Given the description of an element on the screen output the (x, y) to click on. 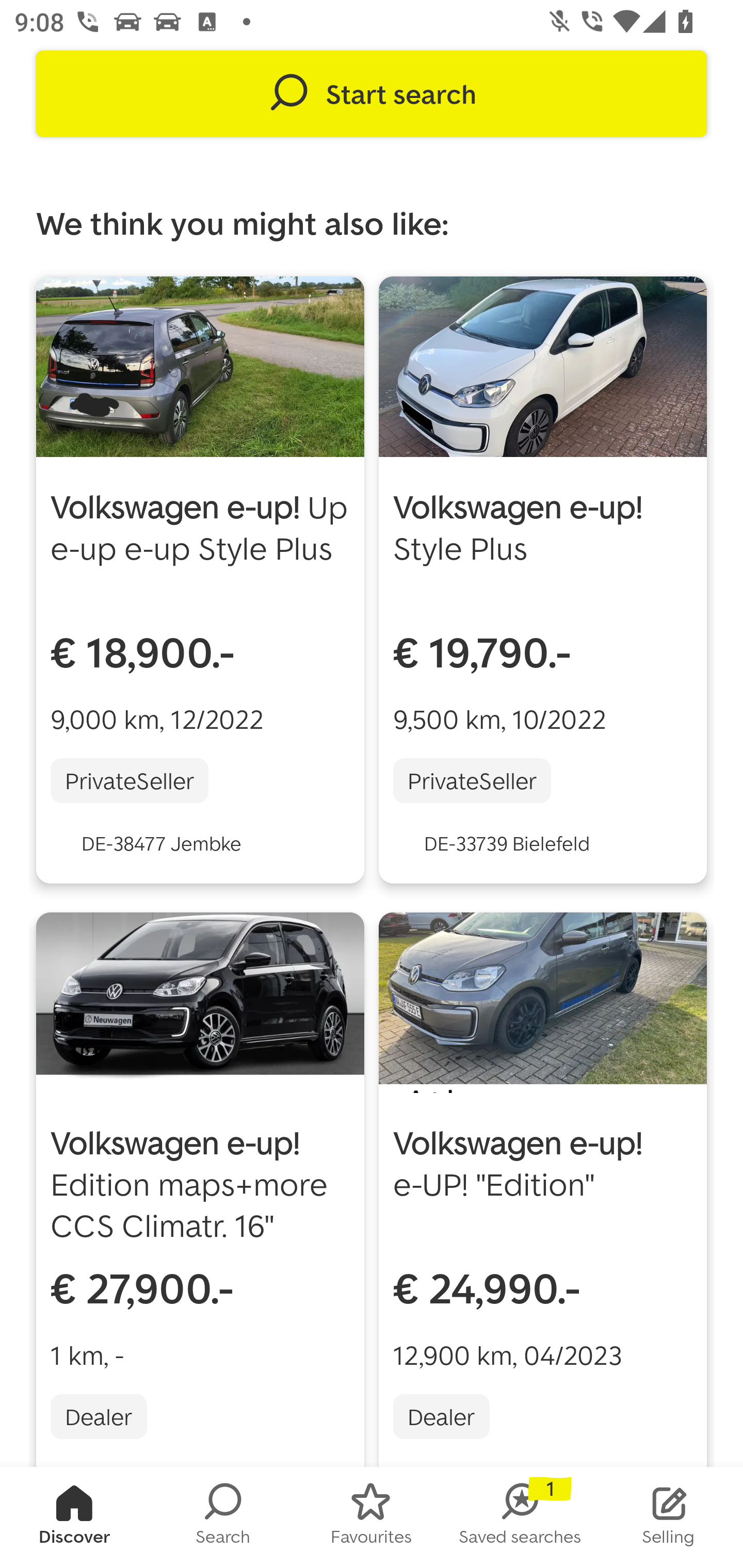
Start search (371, 93)
HOMESCREEN Discover (74, 1517)
SEARCH Search (222, 1517)
FAVORITES Favourites (371, 1517)
SAVED_SEARCHES Saved searches 1 (519, 1517)
STOCK_LIST Selling (668, 1517)
